Given the description of an element on the screen output the (x, y) to click on. 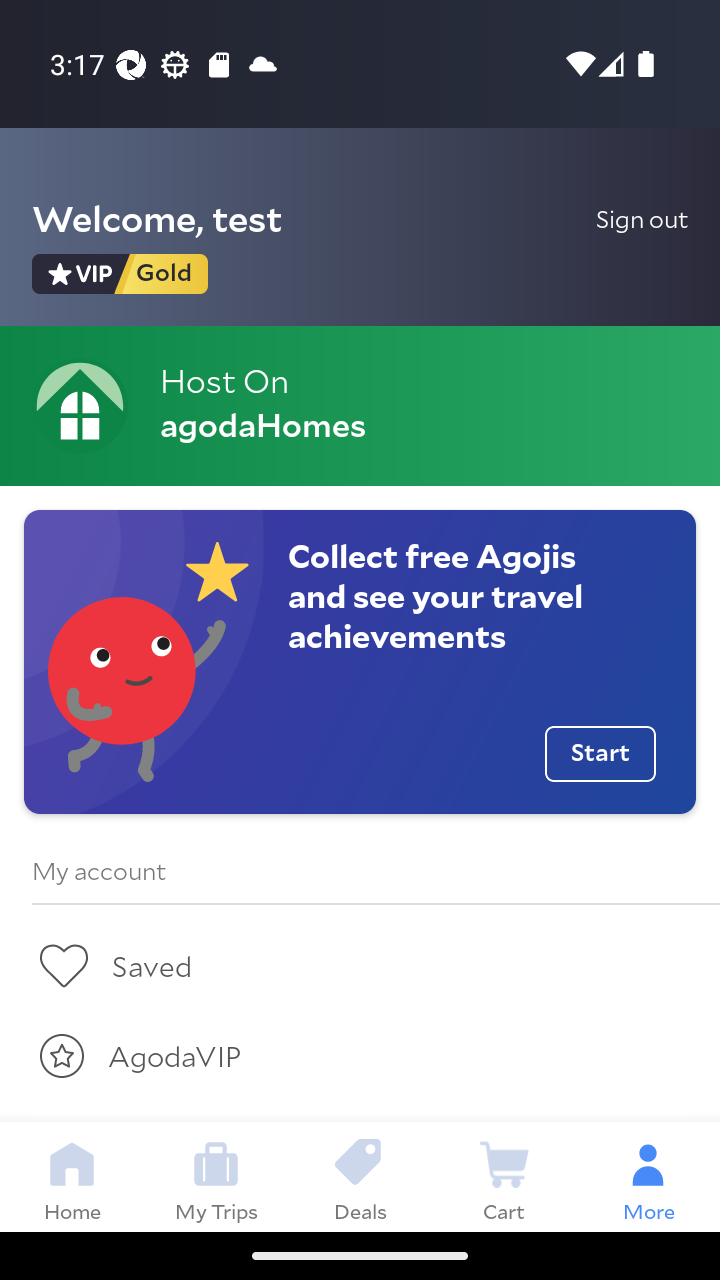
Sign out (642, 218)
Host On agodaHomes (360, 406)
Start  Start (600, 753)
Home (72, 1176)
My Trips (216, 1176)
Deals (360, 1176)
Cart (504, 1176)
More (648, 1176)
